Given the description of an element on the screen output the (x, y) to click on. 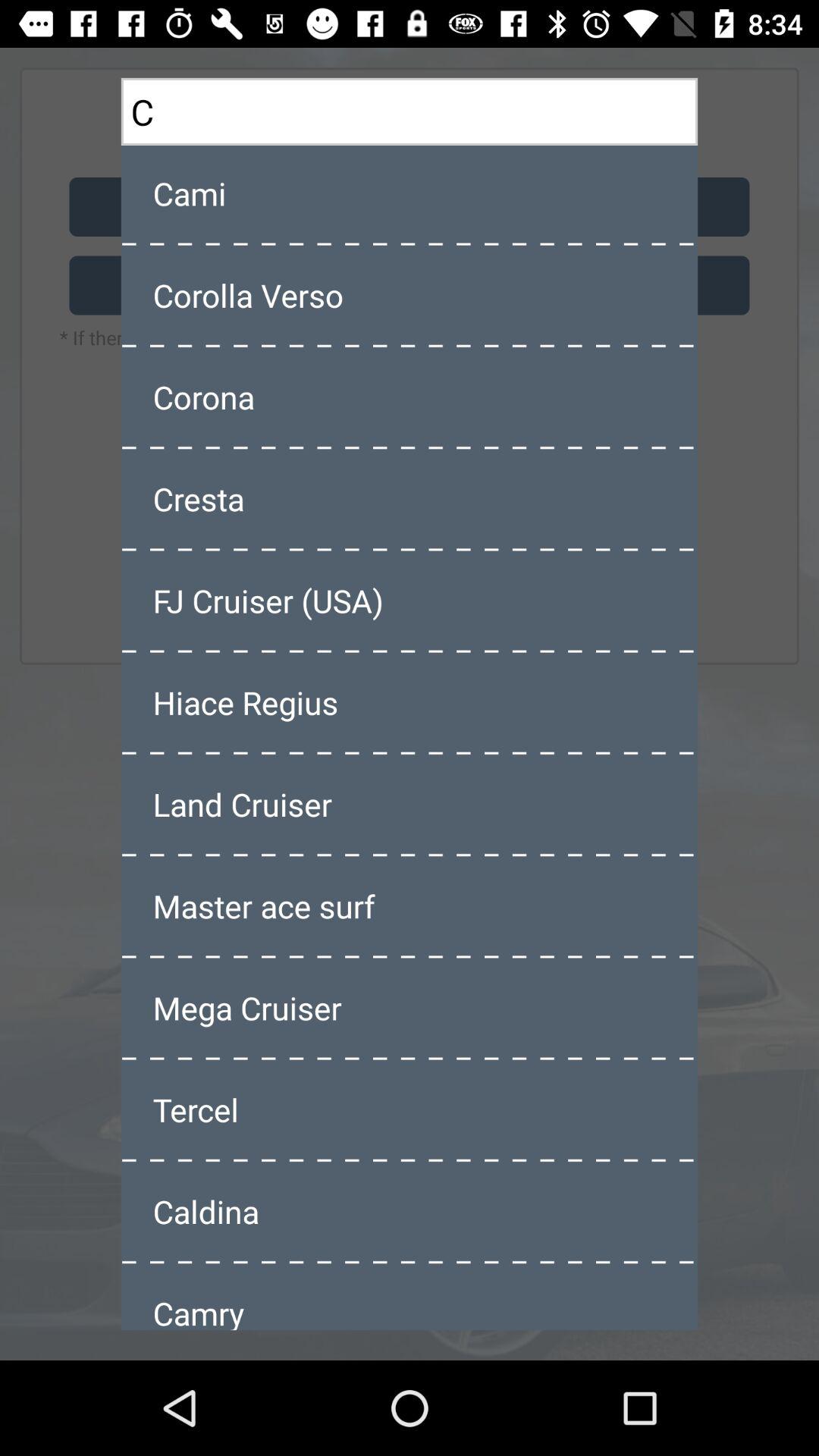
scroll until mega cruiser icon (409, 1007)
